Given the description of an element on the screen output the (x, y) to click on. 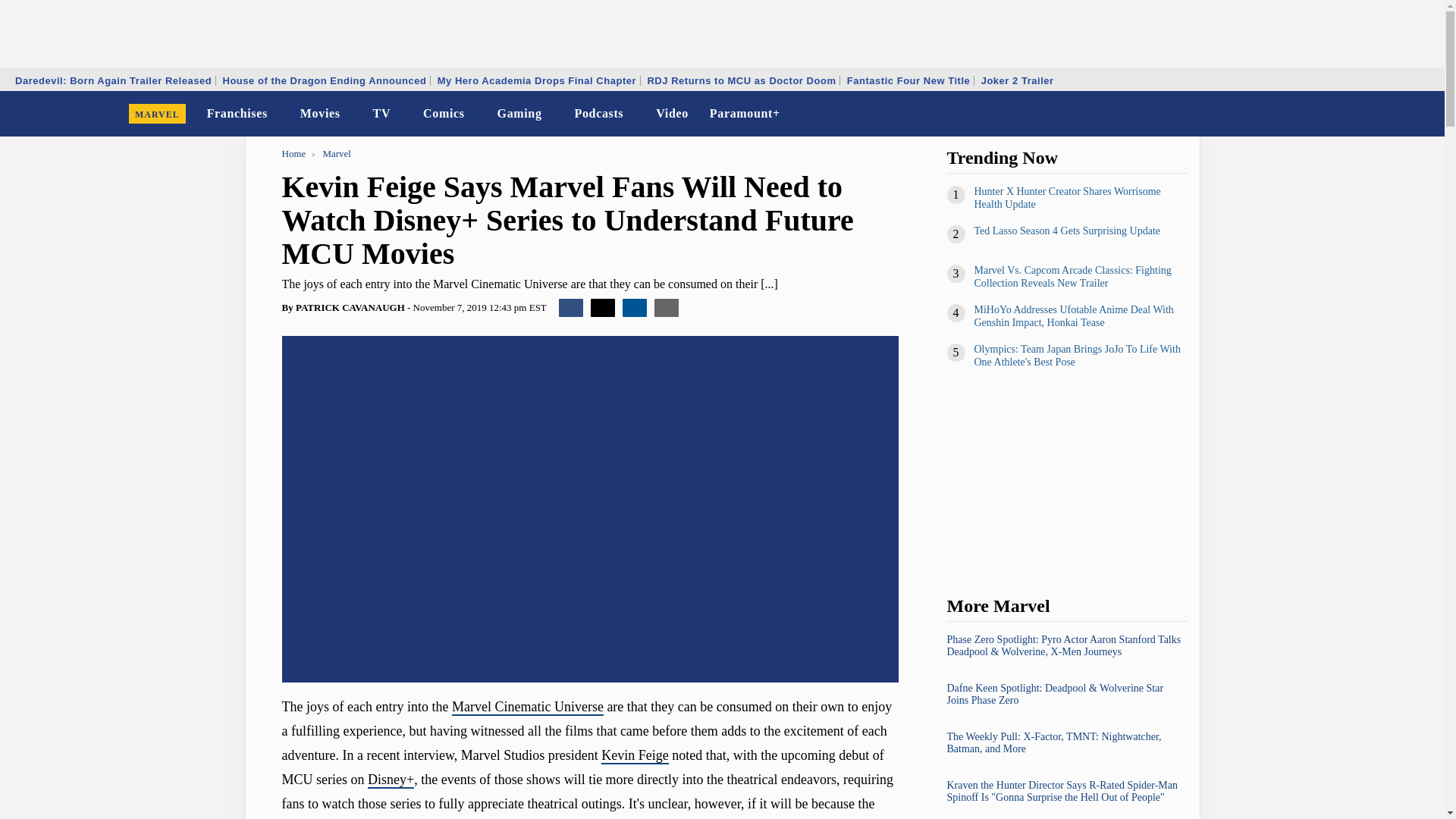
MARVEL (157, 113)
RDJ Returns to MCU as Doctor Doom (741, 80)
Fantastic Four New Title (908, 80)
Comics (443, 113)
Daredevil: Born Again Trailer Released (113, 80)
Dark Mode (1394, 113)
Search (1422, 114)
Joker 2 Trailer (1017, 80)
Movies (320, 113)
House of the Dragon Ending Announced (323, 80)
